Given the description of an element on the screen output the (x, y) to click on. 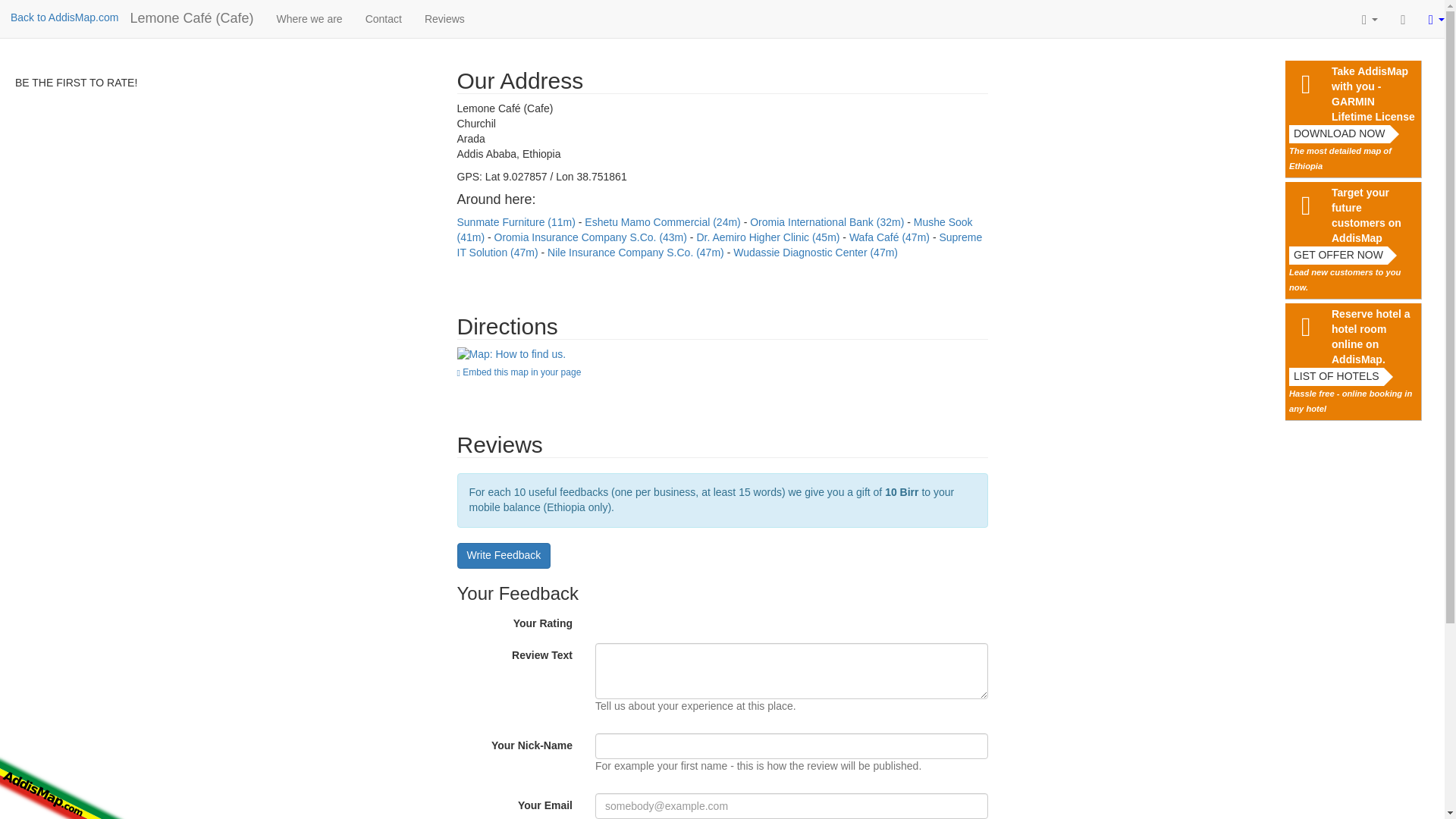
Back to AddisMap.com (63, 17)
Take AddisMap with you - GARMIN Lifetime License (1374, 94)
Where we are (308, 18)
Target your future customers on AddisMap (1374, 215)
LIST OF HOTELS (1336, 376)
Churchil (511, 354)
DOWNLOAD NOW (1339, 134)
Reviews (444, 18)
Contact (383, 18)
GET OFFER NOW (1337, 255)
